Given the description of an element on the screen output the (x, y) to click on. 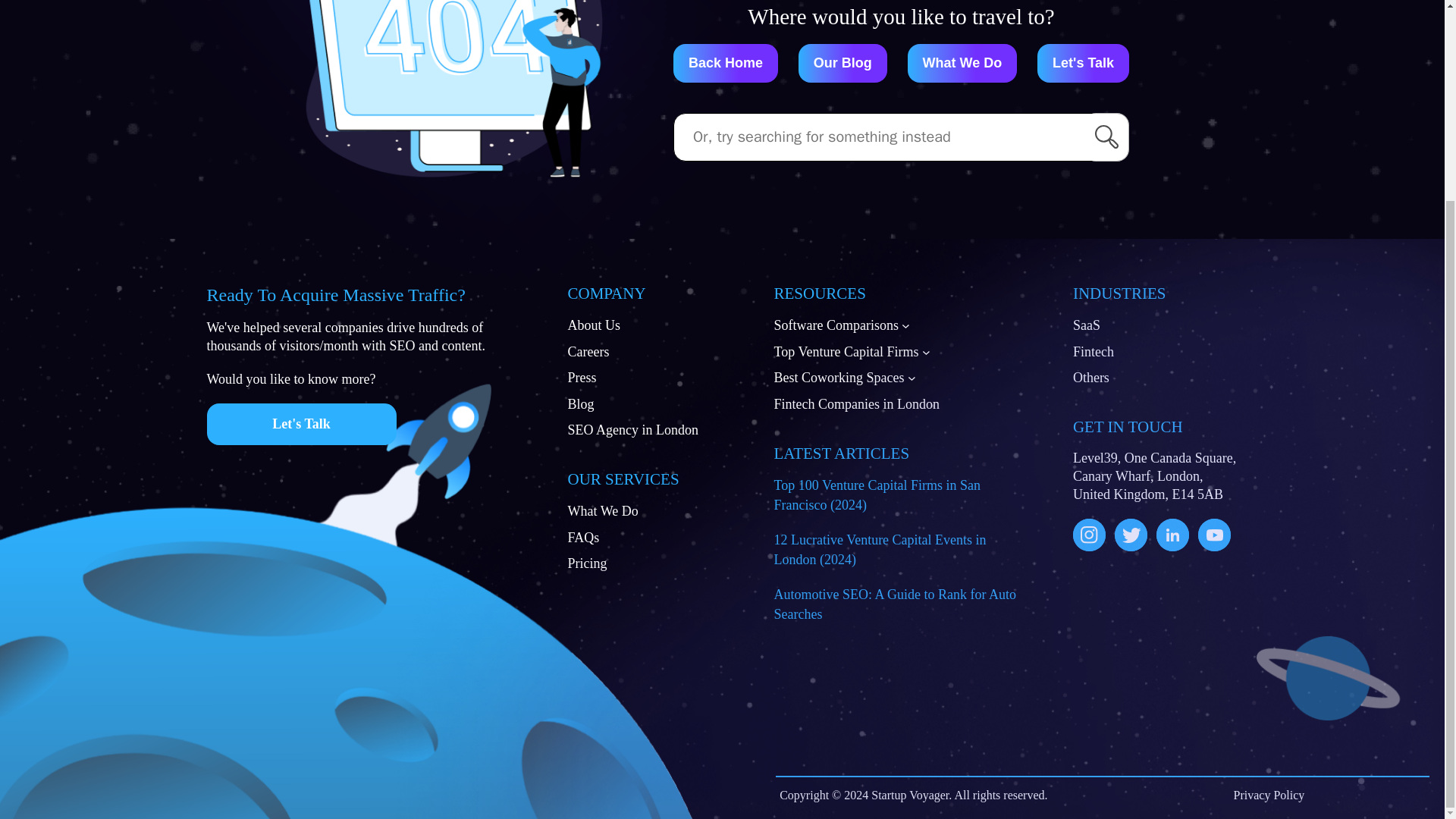
Let's Talk (301, 424)
Our Blog (841, 63)
Press (581, 377)
Back Home (724, 63)
Blog (580, 403)
What We Do (962, 63)
SEO Agency in London (632, 429)
Let's Talk (1082, 63)
Search (1106, 137)
About Us (593, 324)
